Given the description of an element on the screen output the (x, y) to click on. 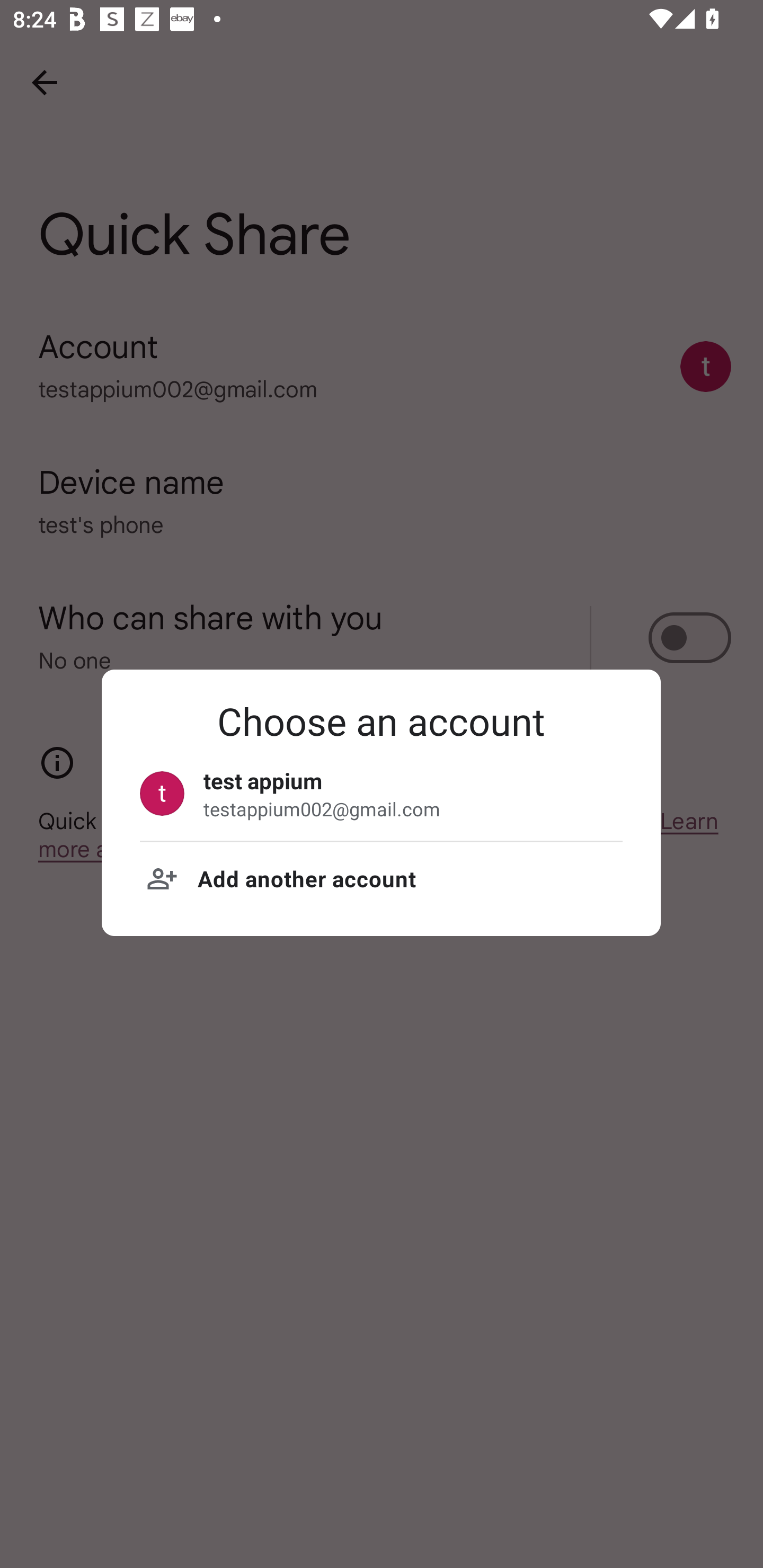
test appium testappium002@gmail.com (380, 793)
Add another account (380, 878)
